Given the description of an element on the screen output the (x, y) to click on. 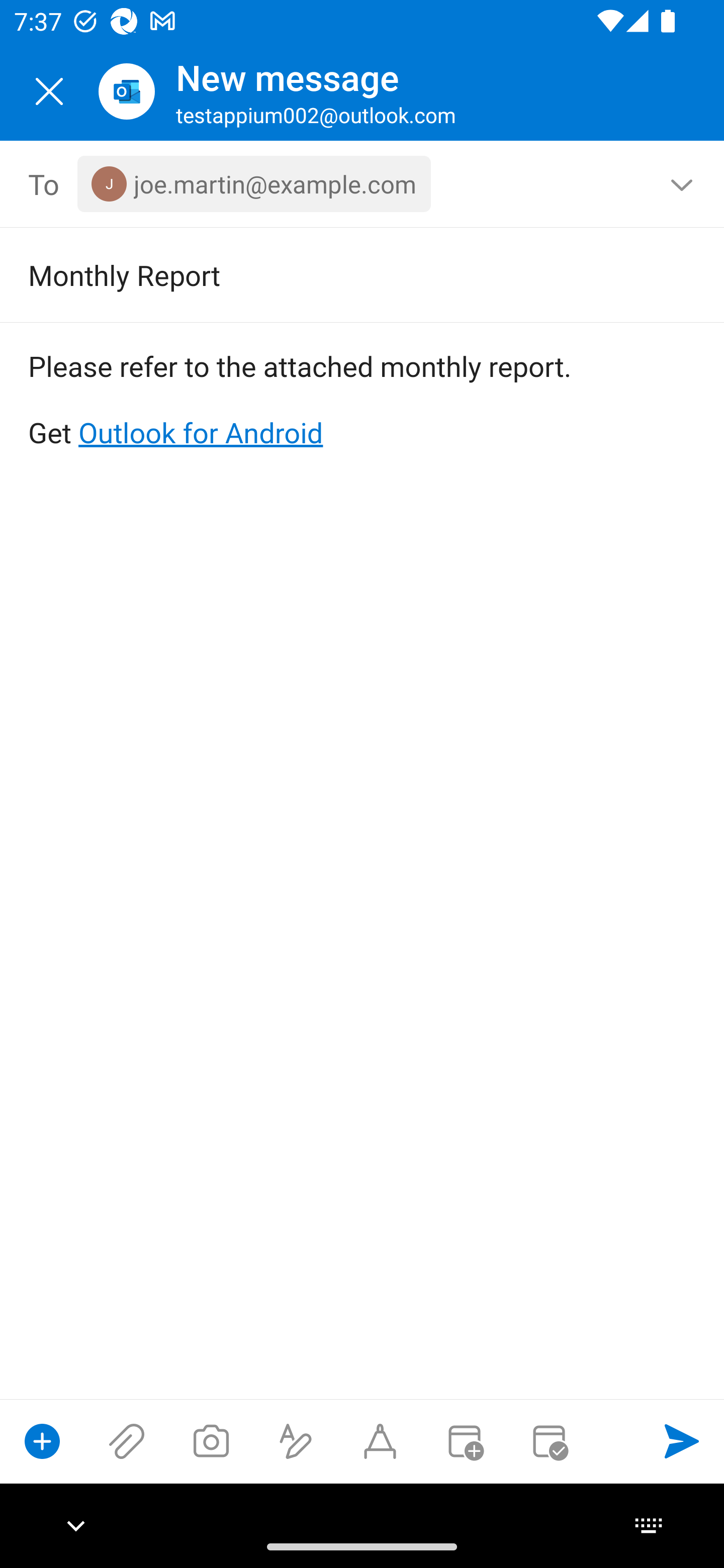
Close (49, 91)
To, 1 recipient <joe.martin@example.com> (362, 184)
Monthly Report (333, 274)
Show compose options (42, 1440)
Attach files (126, 1440)
Take a photo (210, 1440)
Show formatting options (295, 1440)
Start Ink compose (380, 1440)
Convert to event (464, 1440)
Send availability (548, 1440)
Send (681, 1440)
